Given the description of an element on the screen output the (x, y) to click on. 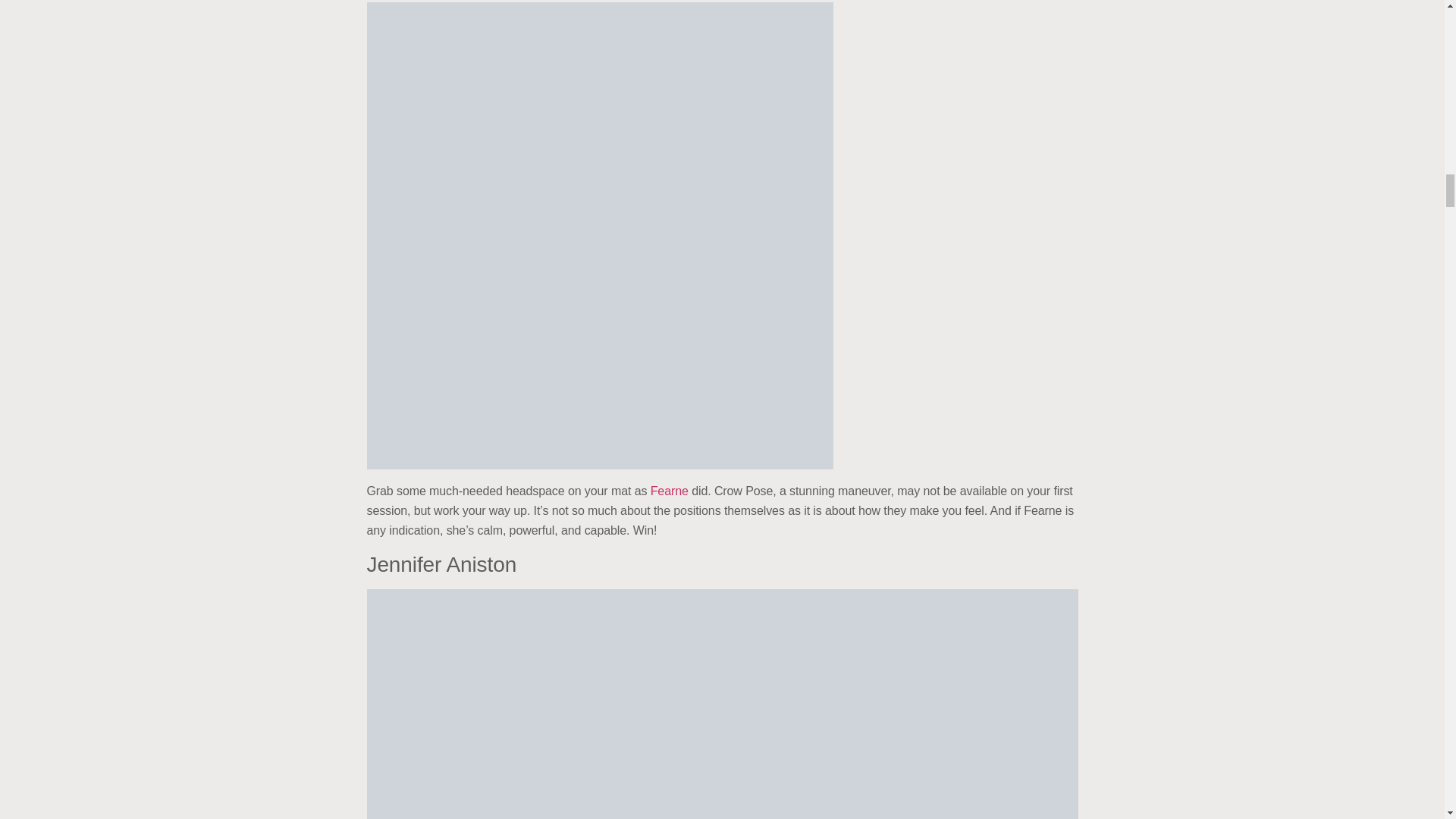
Fearne (669, 490)
